Given the description of an element on the screen output the (x, y) to click on. 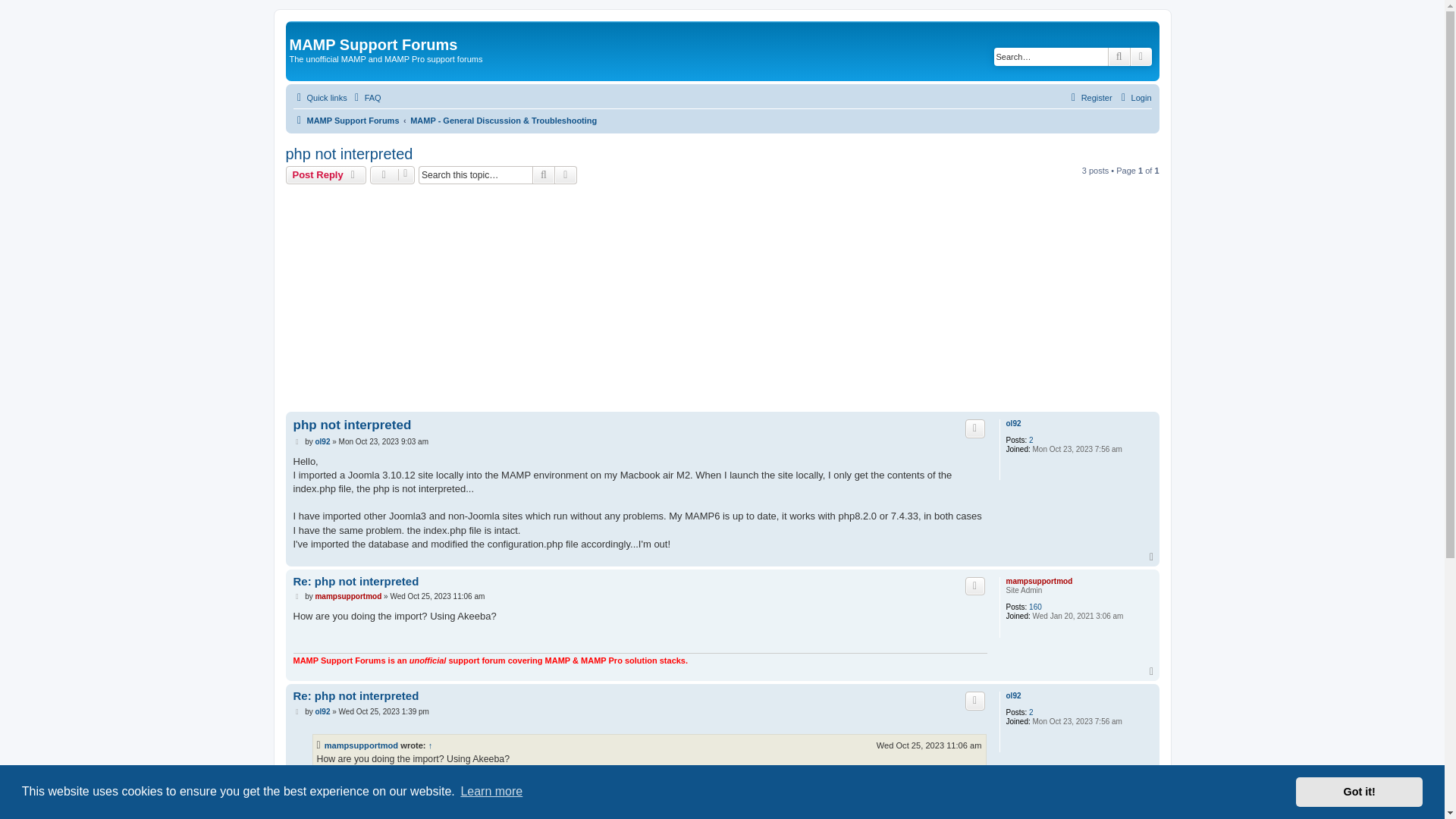
Search (543, 175)
ol92 (322, 441)
MAMP Support Forums (345, 120)
Search for keywords (1051, 56)
Post (297, 441)
FAQ (365, 97)
Post (297, 596)
Login (1134, 97)
Search (1119, 56)
php not interpreted (351, 424)
Advanced search (1141, 56)
Got it! (1358, 791)
Reply with quote (975, 428)
Advanced search (565, 175)
